Given the description of an element on the screen output the (x, y) to click on. 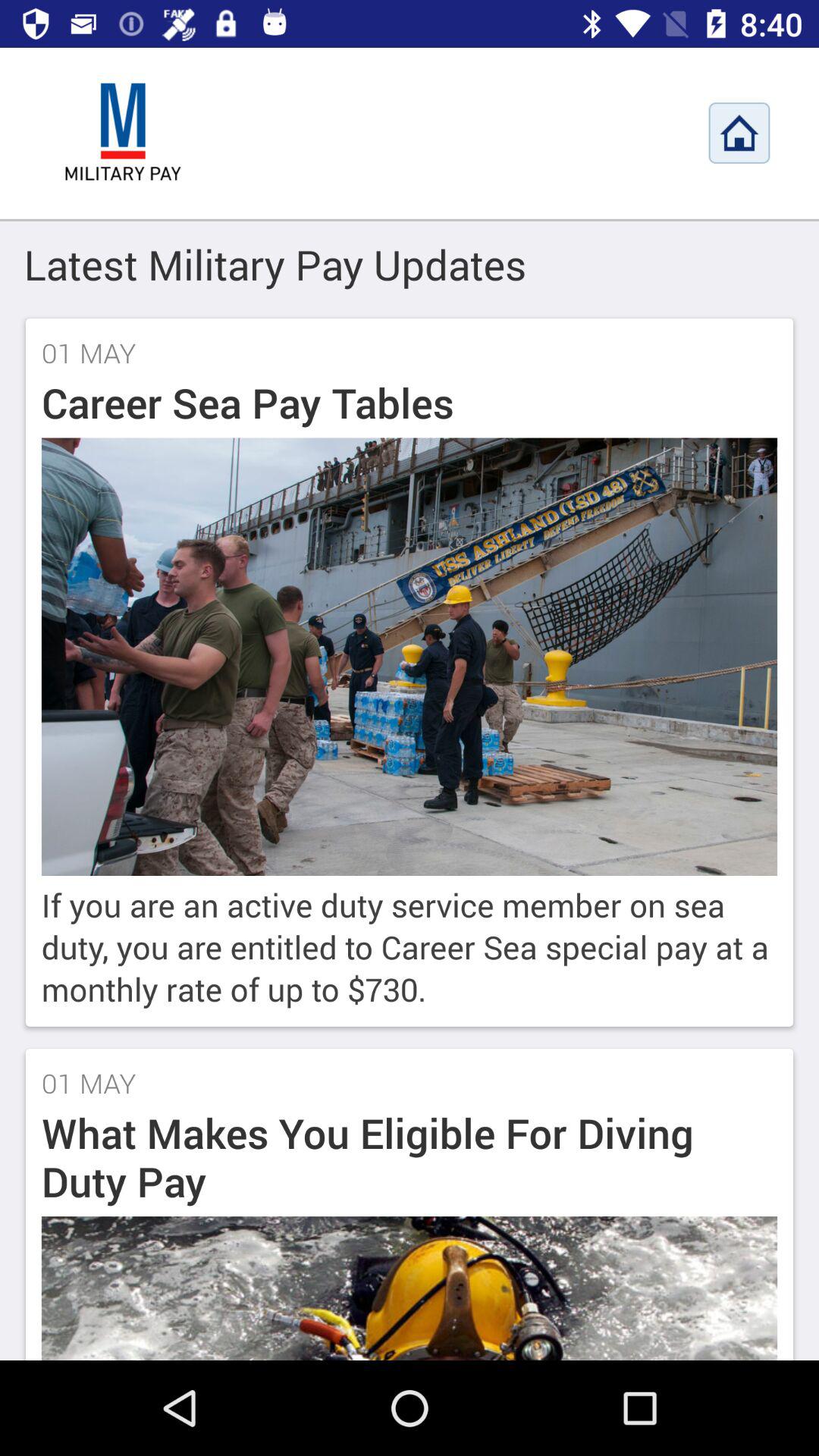
go to homepage of military pay (739, 132)
